Given the description of an element on the screen output the (x, y) to click on. 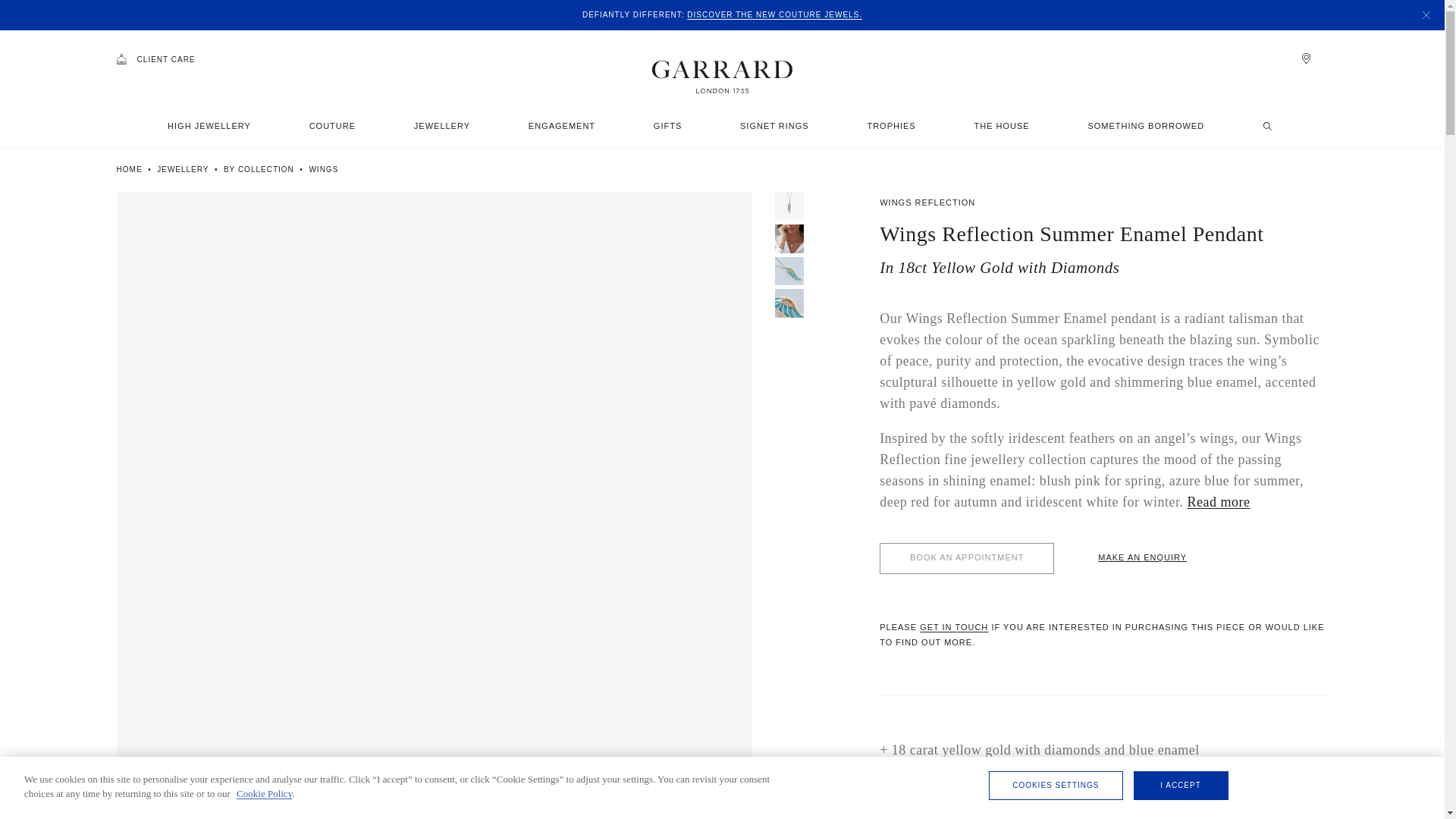
Book an appointment (966, 557)
